Given the description of an element on the screen output the (x, y) to click on. 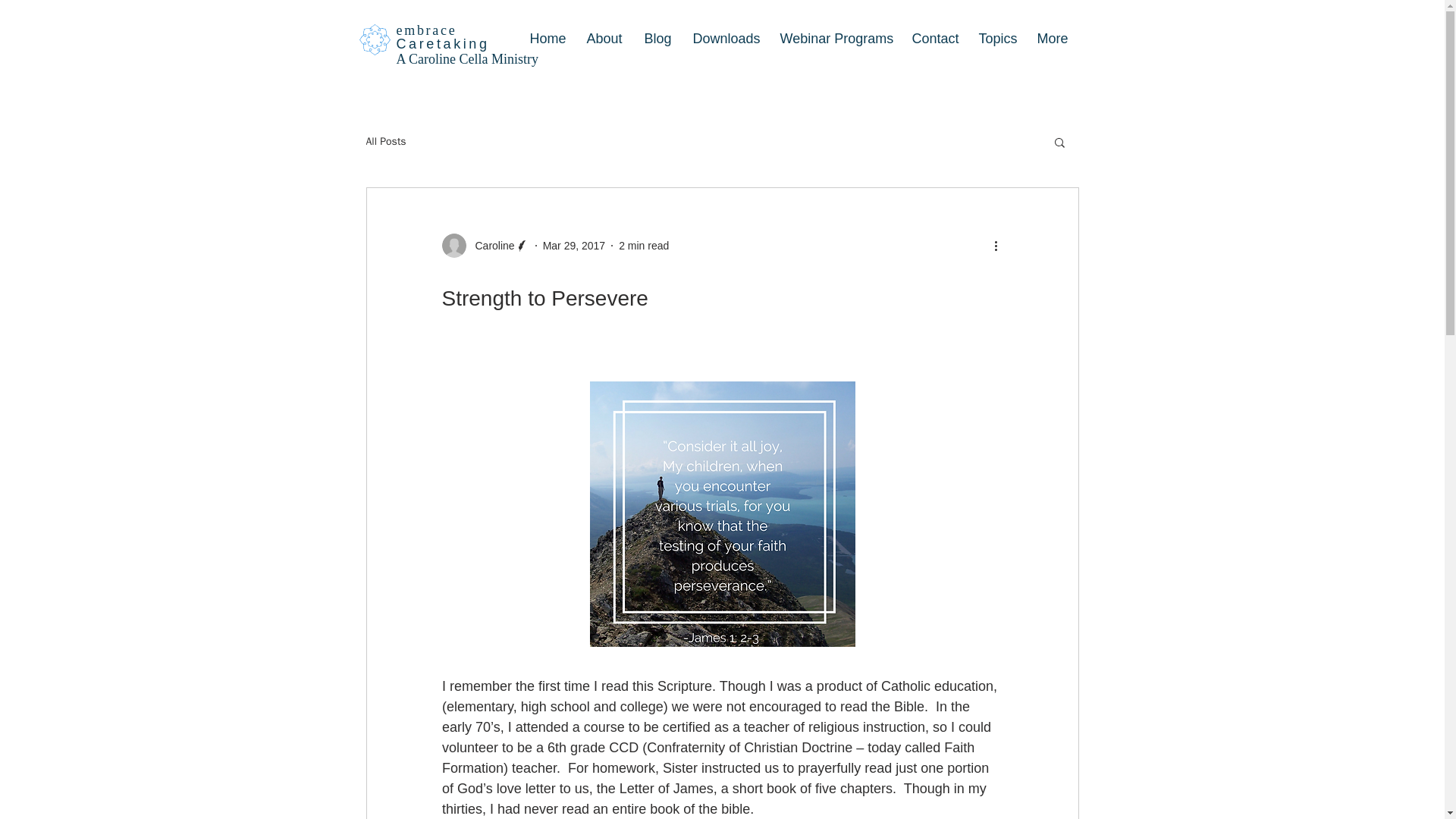
Topics (997, 38)
Caroline (484, 245)
2 min read (643, 245)
Webinar Programs (834, 38)
Home (546, 38)
embrace (426, 29)
All Posts (385, 141)
Mar 29, 2017 (574, 245)
Caretaking (442, 43)
About (603, 38)
